Given the description of an element on the screen output the (x, y) to click on. 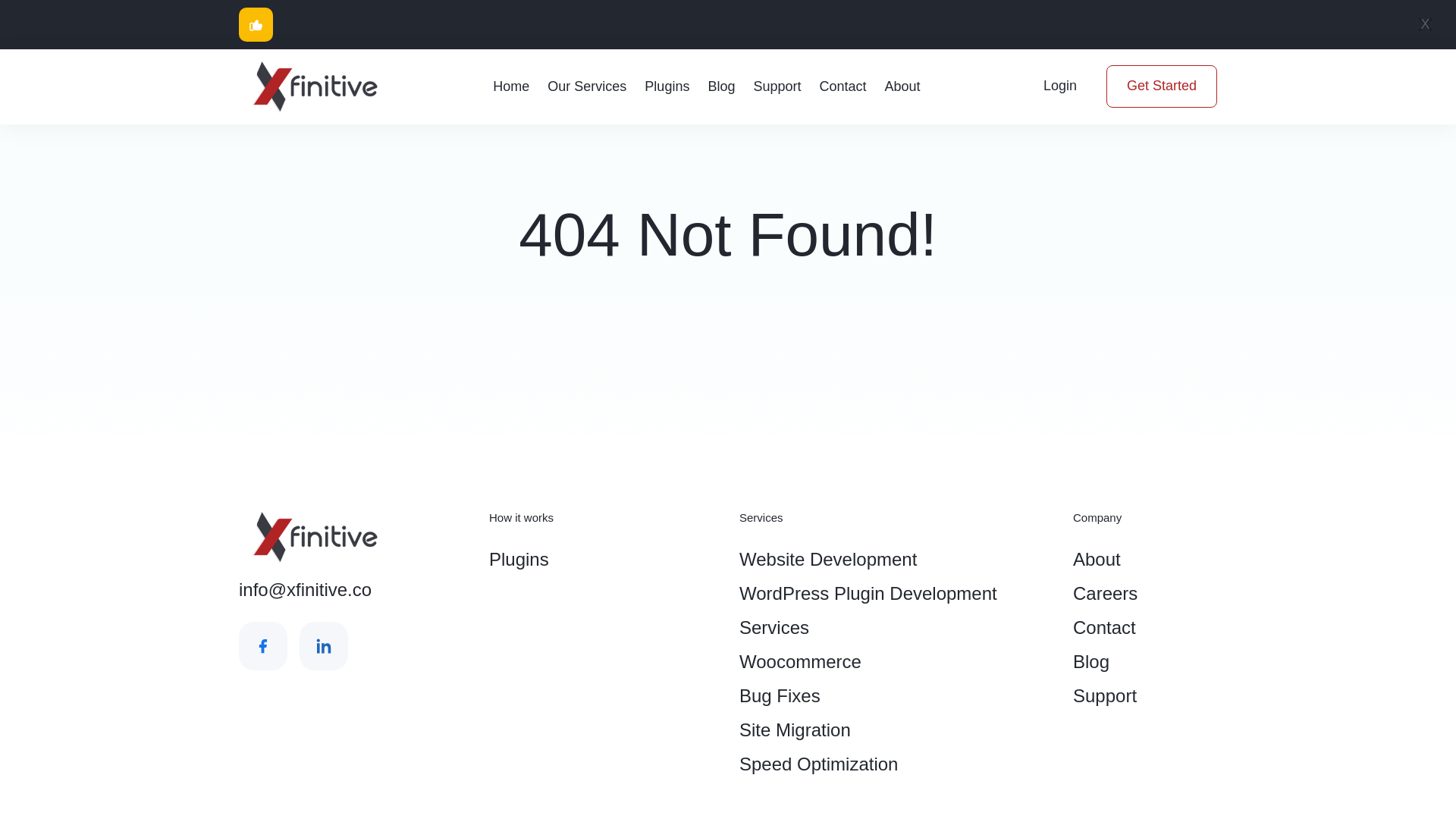
Blog (721, 86)
About (903, 86)
Website Development (894, 559)
Careers (1145, 593)
Bug Fixes (894, 695)
Speed Optimization (894, 763)
About (1145, 559)
X (1425, 24)
Woocommerce (894, 661)
Plugins (602, 559)
Support (776, 86)
Get Started (1161, 86)
Home (510, 86)
Blog (1145, 661)
Plugins (666, 86)
